Given the description of an element on the screen output the (x, y) to click on. 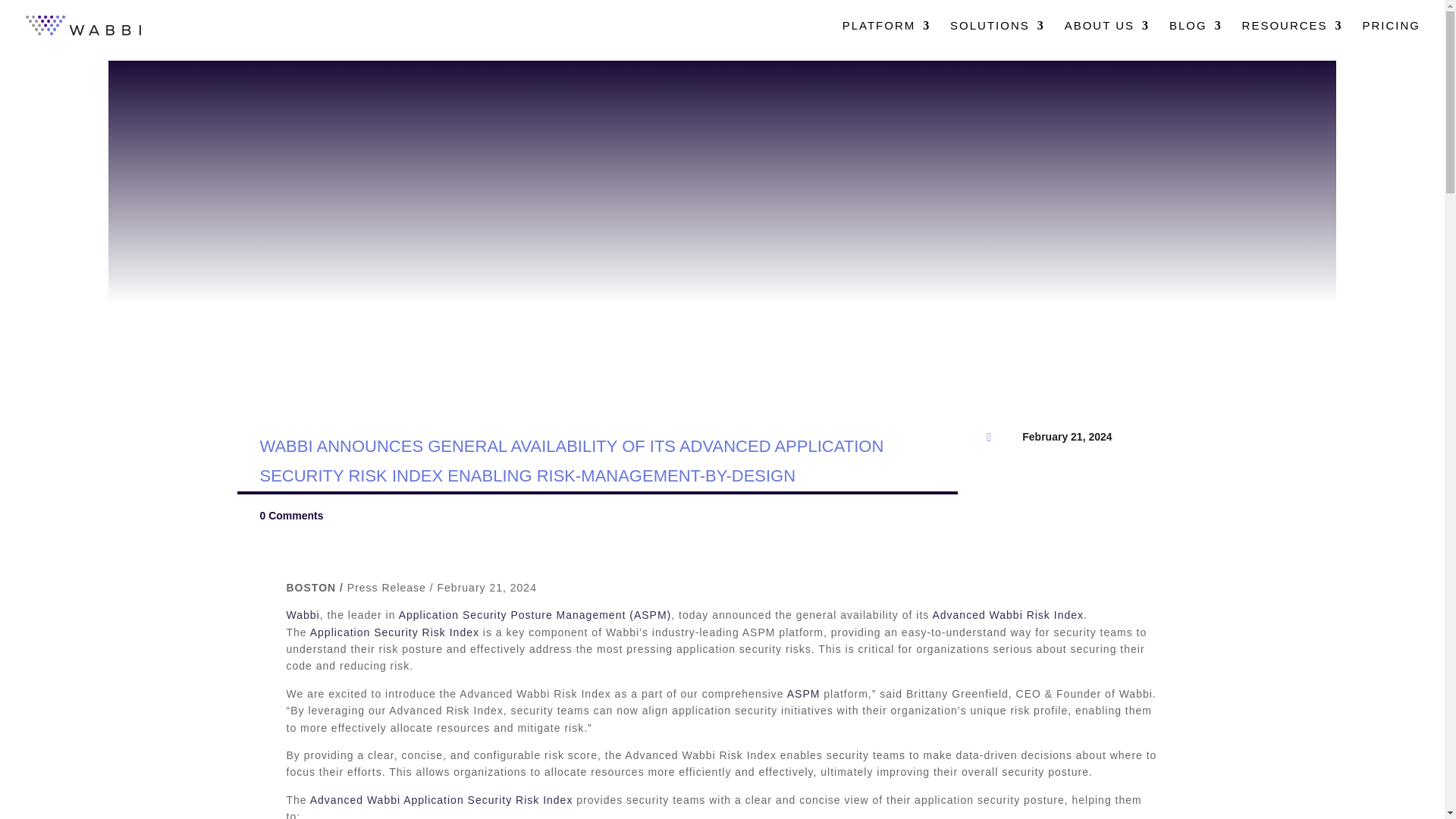
Application Security Risk Index (394, 632)
0 Comments (291, 515)
RESOURCES (1291, 35)
ASPM (804, 693)
Advanced Wabbi Risk Index (1007, 614)
SOLUTIONS (997, 35)
ABOUT US (1107, 35)
ASPM (649, 614)
BLOG (1196, 35)
PLATFORM (887, 35)
PRICING (1391, 35)
Wabbi (303, 614)
Advanced Wabbi Application Security Risk Index (441, 799)
